Given the description of an element on the screen output the (x, y) to click on. 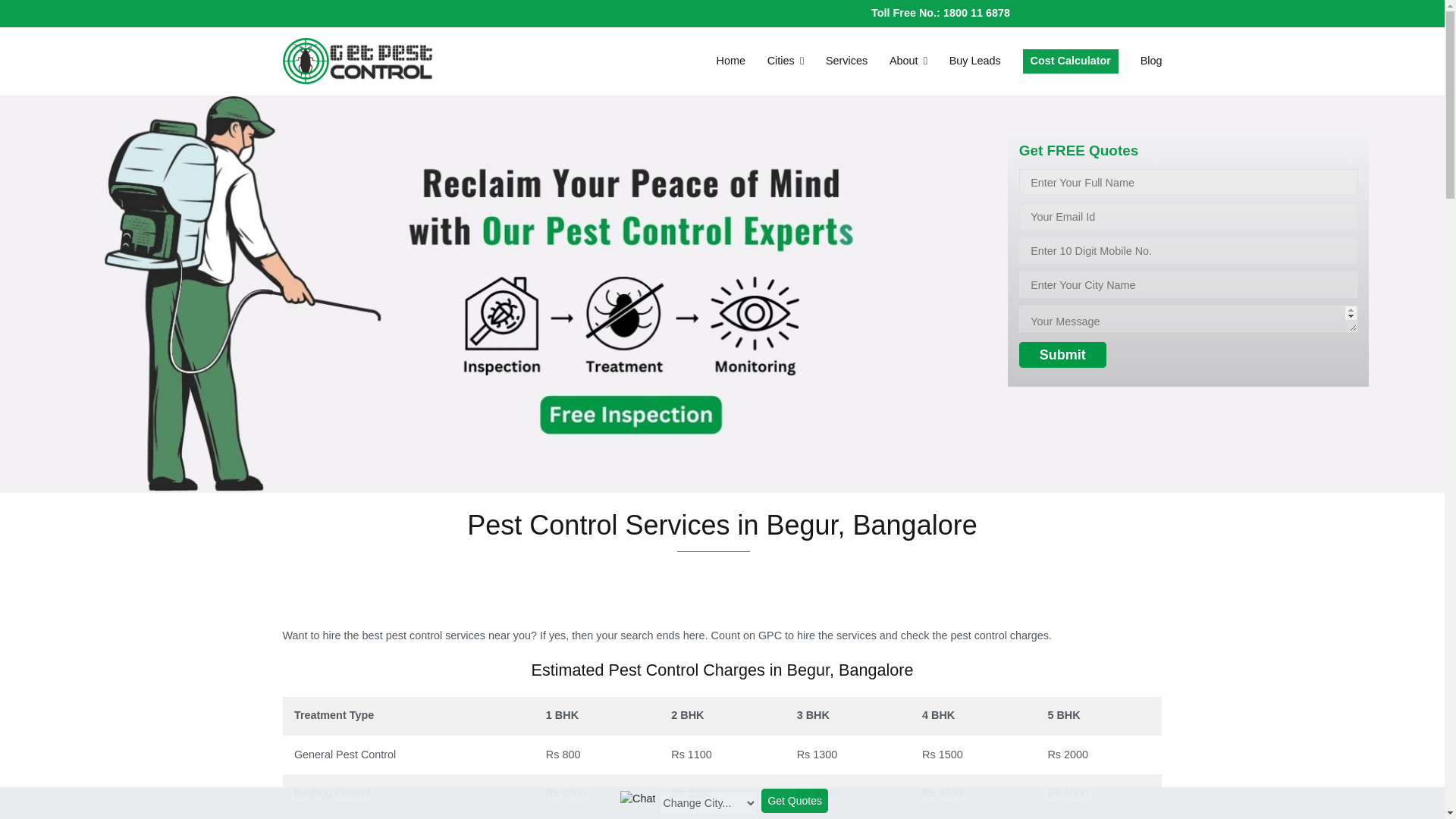
Cost Calculator (1070, 61)
Buy Leads (975, 61)
Home (730, 61)
About (908, 61)
Services (846, 61)
1800 11 6878 (976, 12)
Blog (1150, 61)
1800 11 6878 (976, 12)
Cities (785, 61)
